Given the description of an element on the screen output the (x, y) to click on. 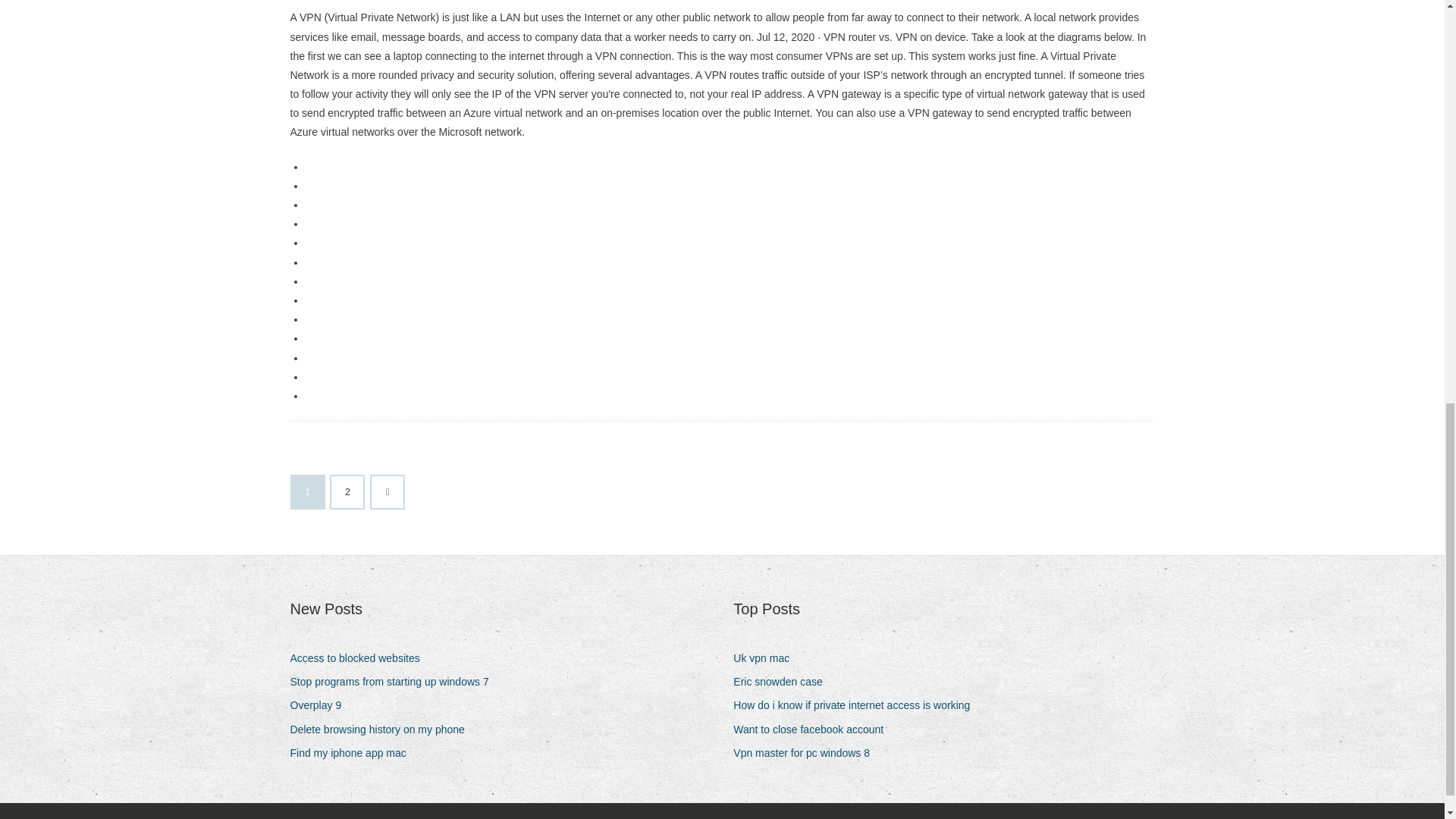
Want to close facebook account (814, 729)
Access to blocked websites (359, 658)
2 (346, 491)
Overplay 9 (320, 705)
Vpn master for pc windows 8 (806, 752)
How do i know if private internet access is working (857, 705)
Uk vpn mac (766, 658)
Delete browsing history on my phone (382, 729)
Eric snowden case (783, 681)
